Given the description of an element on the screen output the (x, y) to click on. 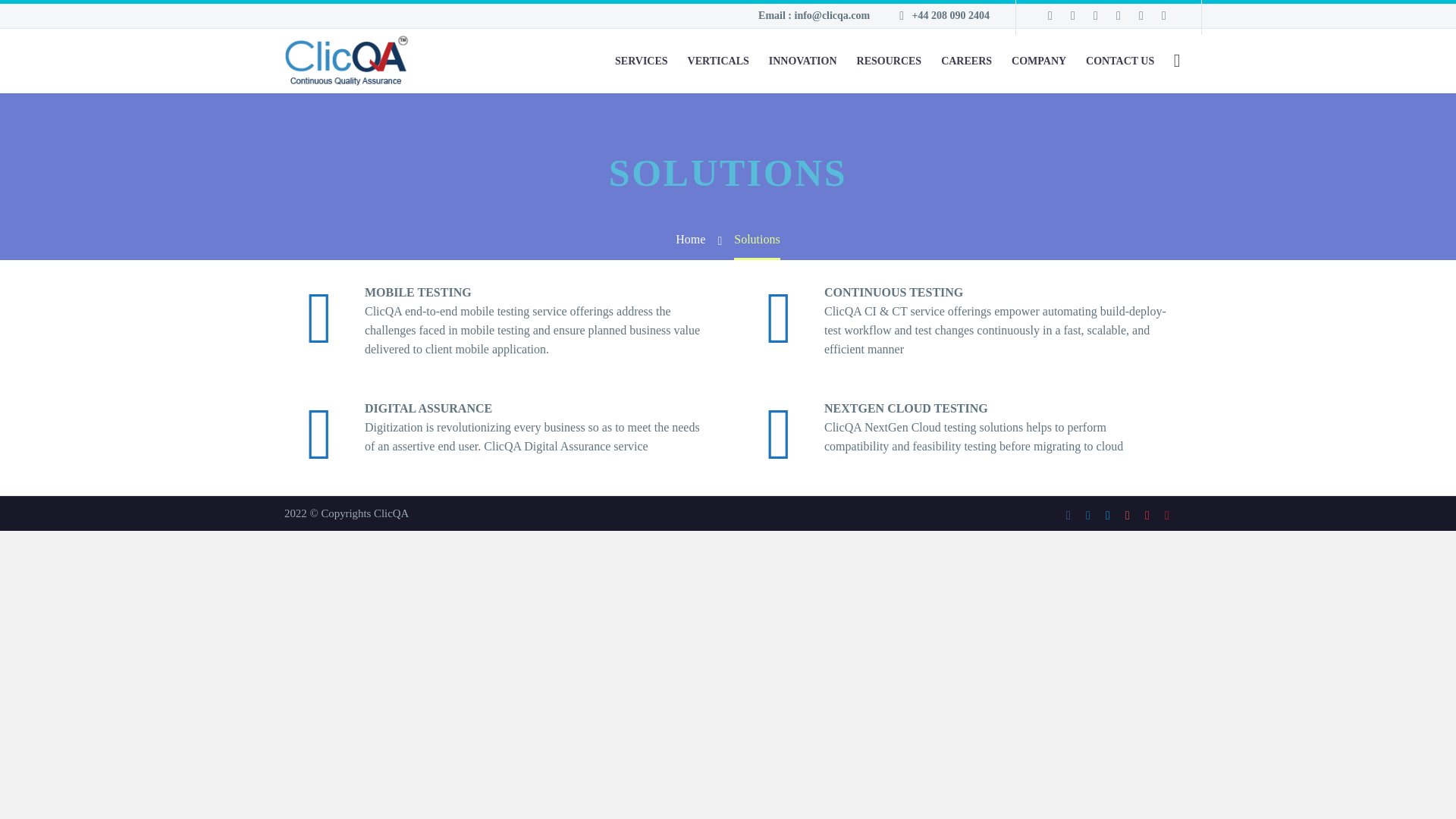
Twitter (1107, 515)
Facebook (1068, 515)
INNOVATION (802, 60)
VERTICALS (718, 60)
Pinterest (1127, 515)
Pinterest (1117, 15)
SERVICES (641, 60)
Google Plus (1147, 515)
Facebook (1050, 15)
YouTube (1166, 515)
